Given the description of an element on the screen output the (x, y) to click on. 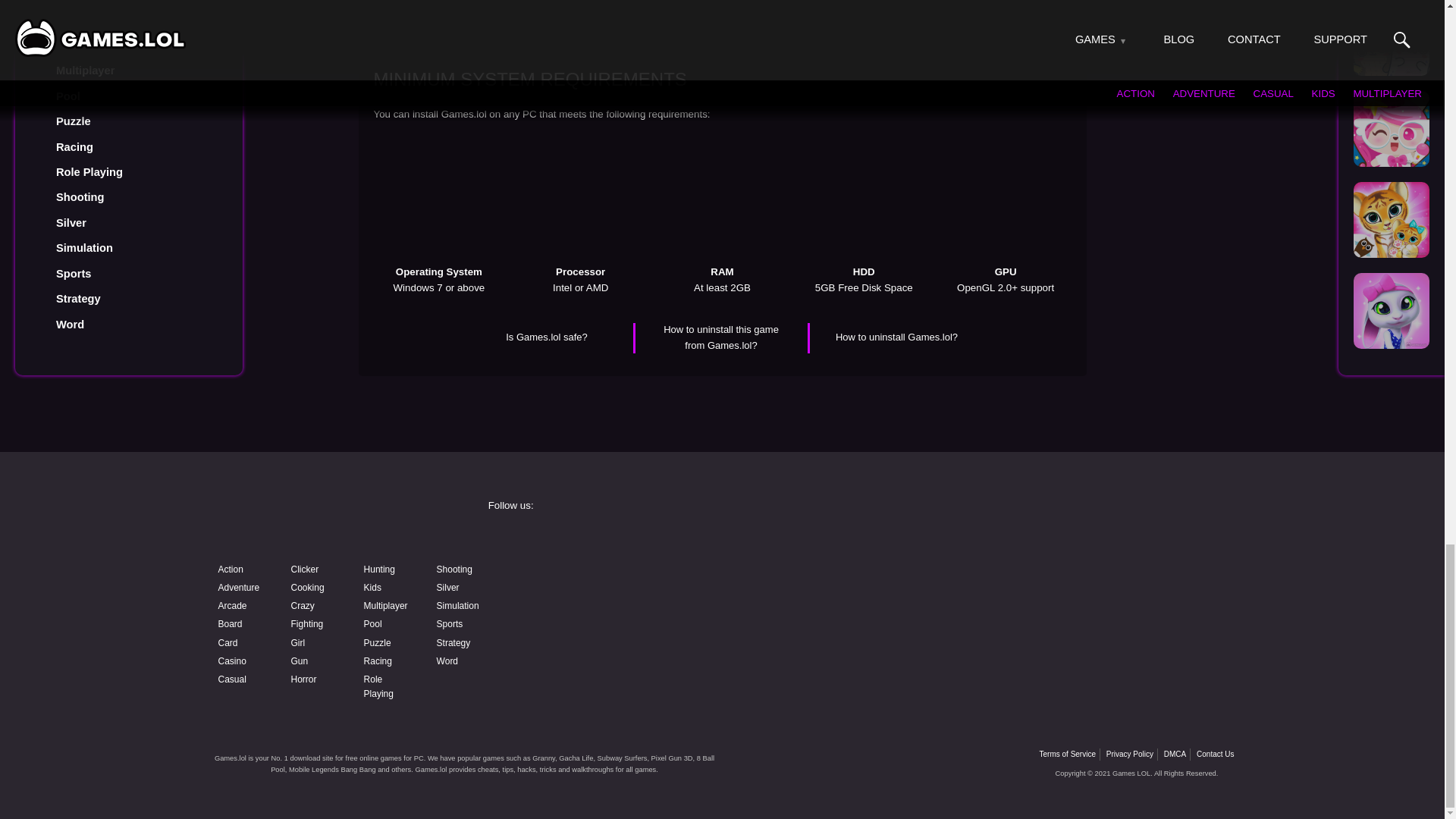
YouTube (603, 579)
Facebook (603, 540)
Games.lol free game download website logo (319, 519)
Instagram (838, 540)
Discord (838, 579)
Twitter (1073, 540)
